Given the description of an element on the screen output the (x, y) to click on. 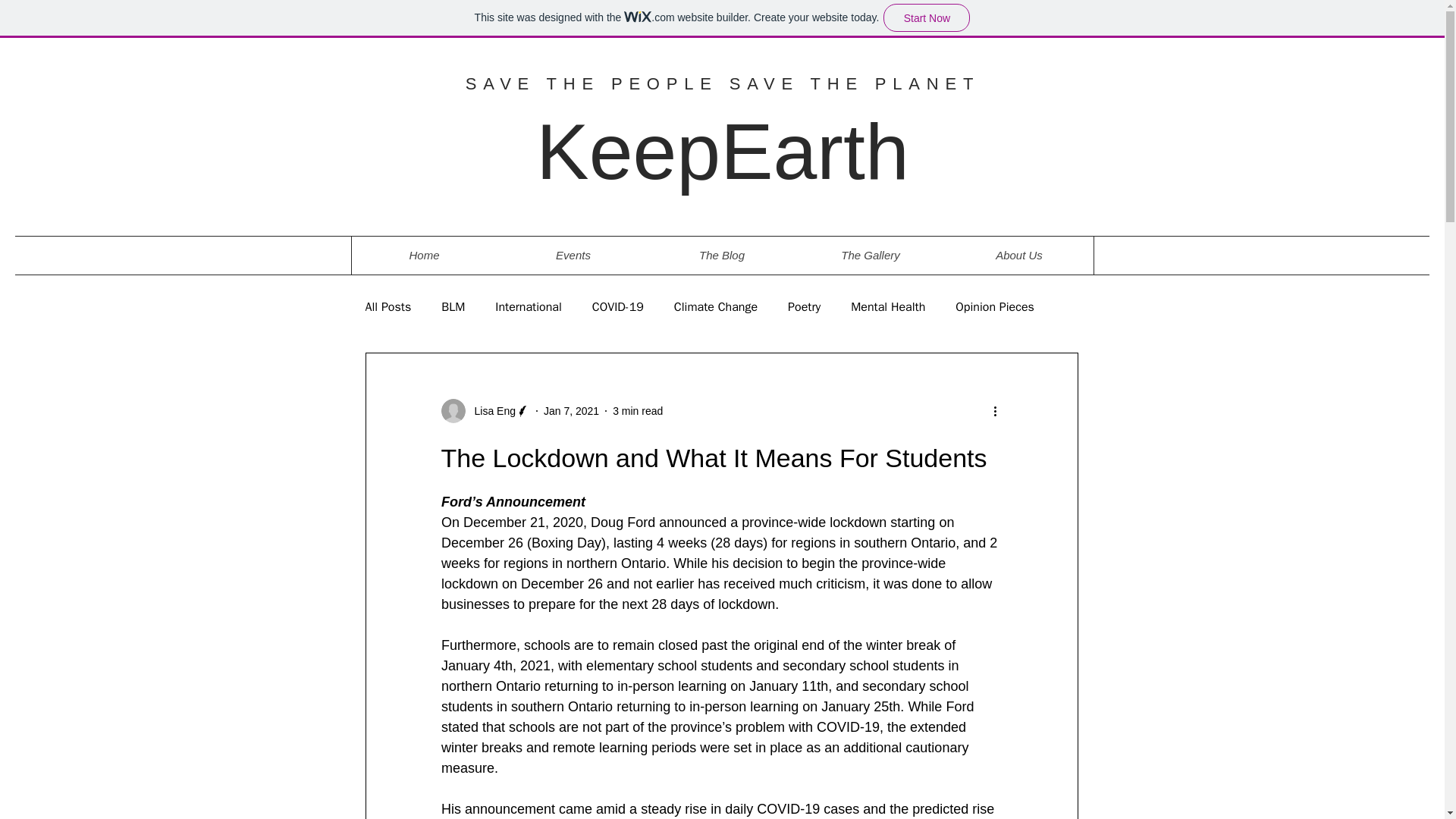
Mental Health (887, 306)
Poetry (804, 306)
The Blog (721, 255)
All Posts (388, 306)
Lisa Eng (490, 411)
About Us (1018, 255)
Climate Change (715, 306)
BLM (452, 306)
The Gallery (870, 255)
Opinion Pieces (994, 306)
